Given the description of an element on the screen output the (x, y) to click on. 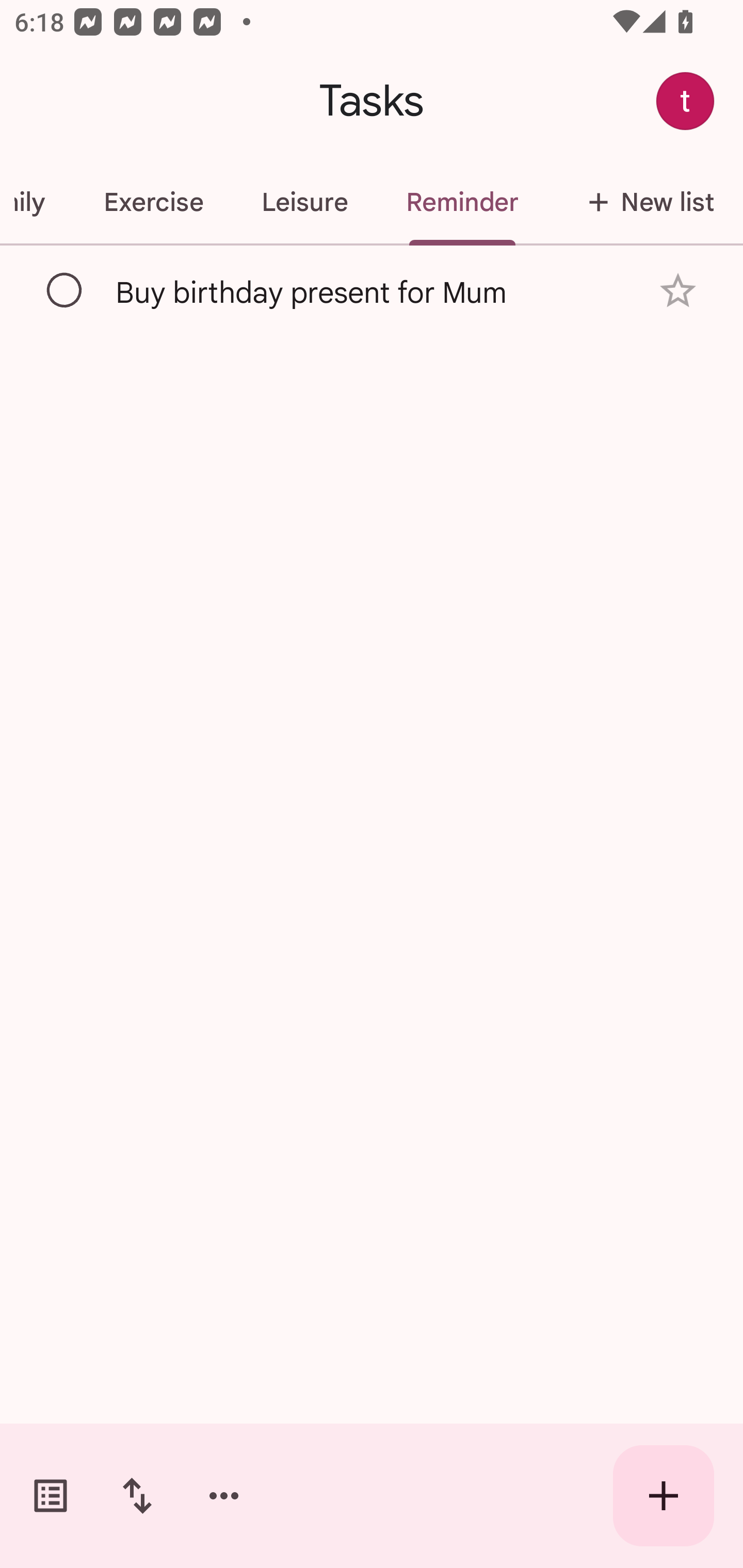
Exercise (152, 202)
Leisure (303, 202)
New list (645, 202)
Add star (677, 290)
Mark as complete (64, 290)
Switch task lists (50, 1495)
Create new task (663, 1495)
Change sort order (136, 1495)
More options (223, 1495)
